Given the description of an element on the screen output the (x, y) to click on. 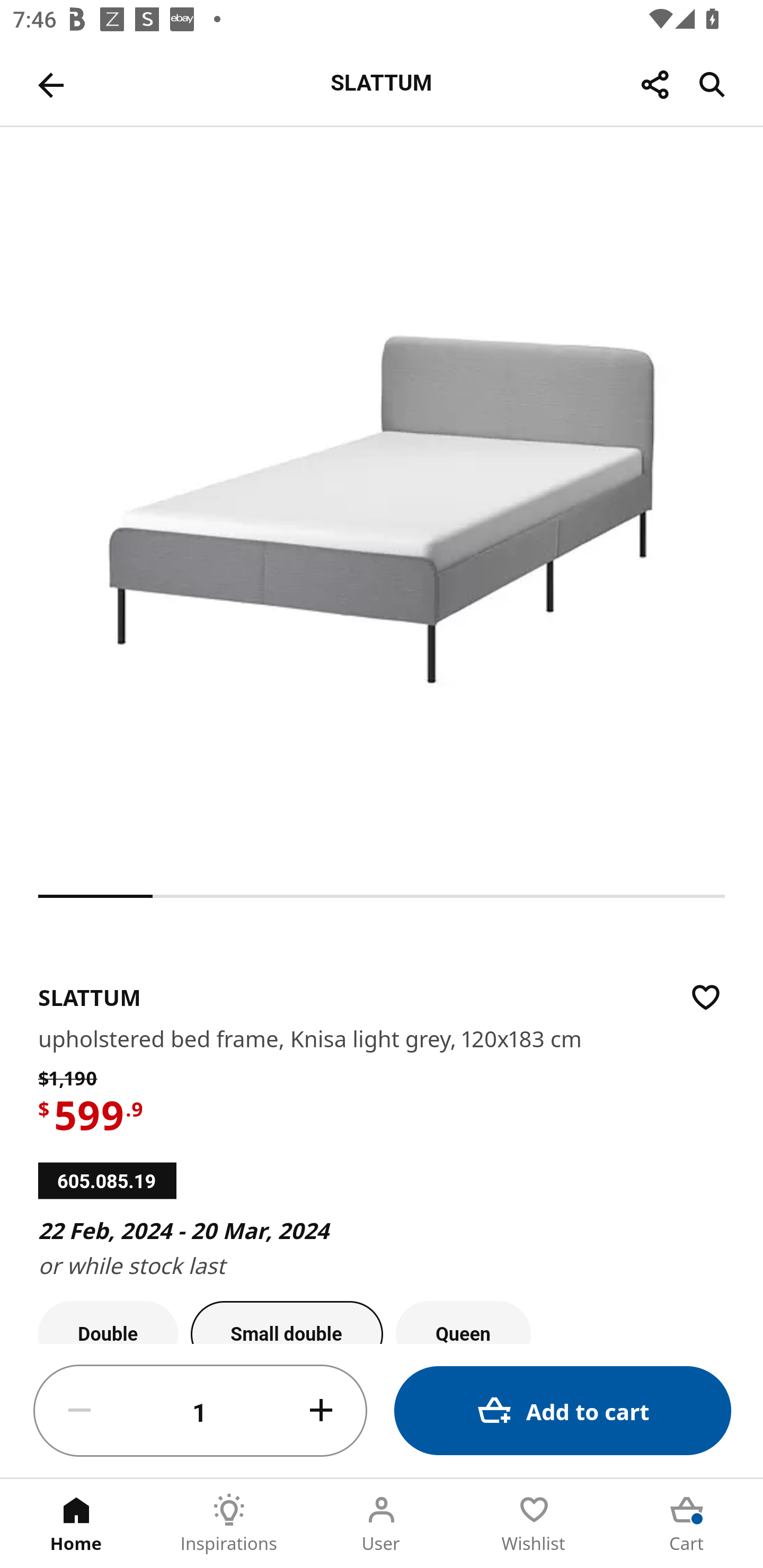
Double (107, 1322)
Small double (286, 1322)
Queen (463, 1322)
Add to cart (562, 1410)
1 (200, 1411)
Home
Tab 1 of 5 (76, 1522)
Inspirations
Tab 2 of 5 (228, 1522)
User
Tab 3 of 5 (381, 1522)
Wishlist
Tab 4 of 5 (533, 1522)
Cart
Tab 5 of 5 (686, 1522)
